Given the description of an element on the screen output the (x, y) to click on. 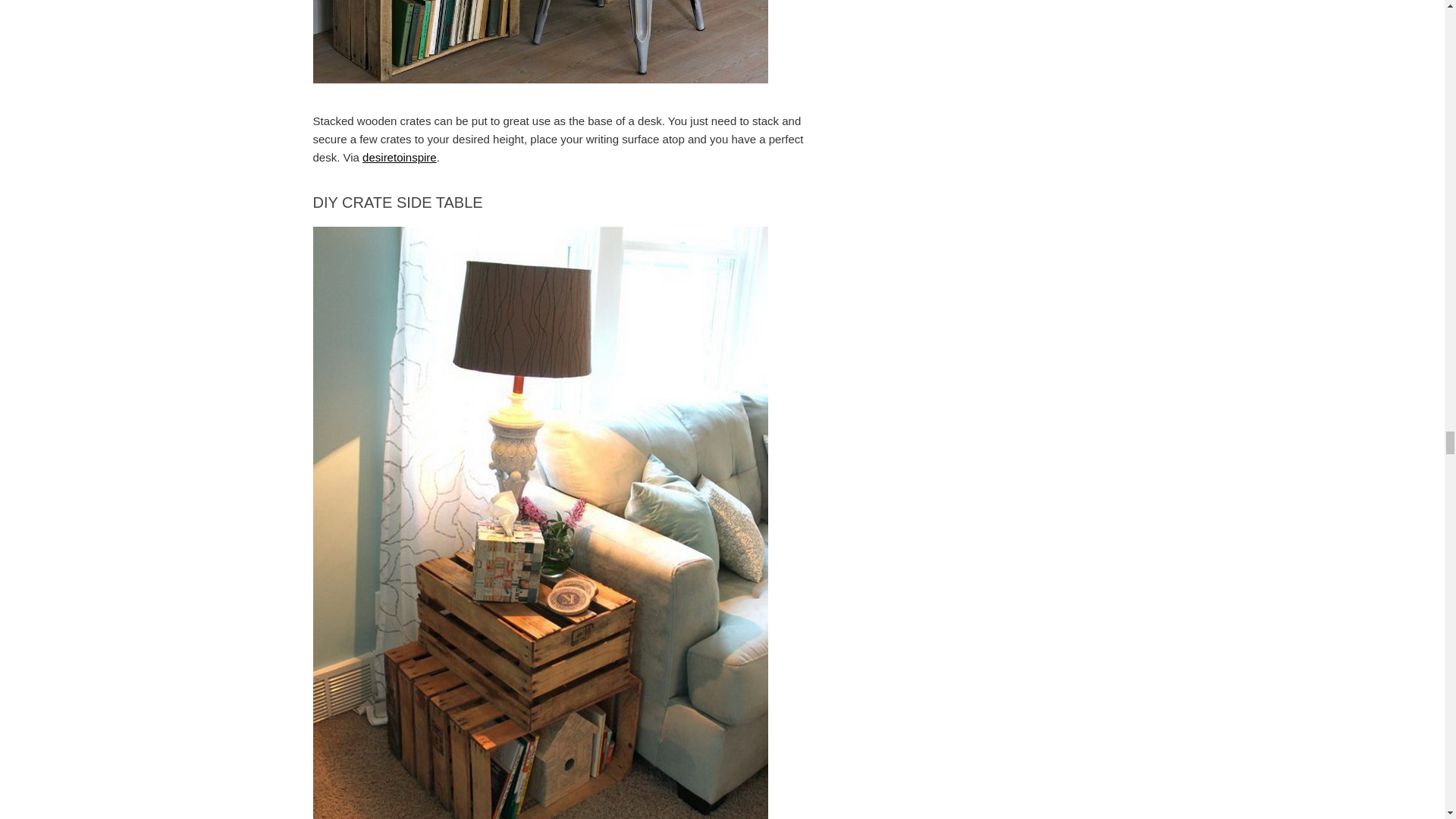
desiretoinspire (399, 156)
